Given the description of an element on the screen output the (x, y) to click on. 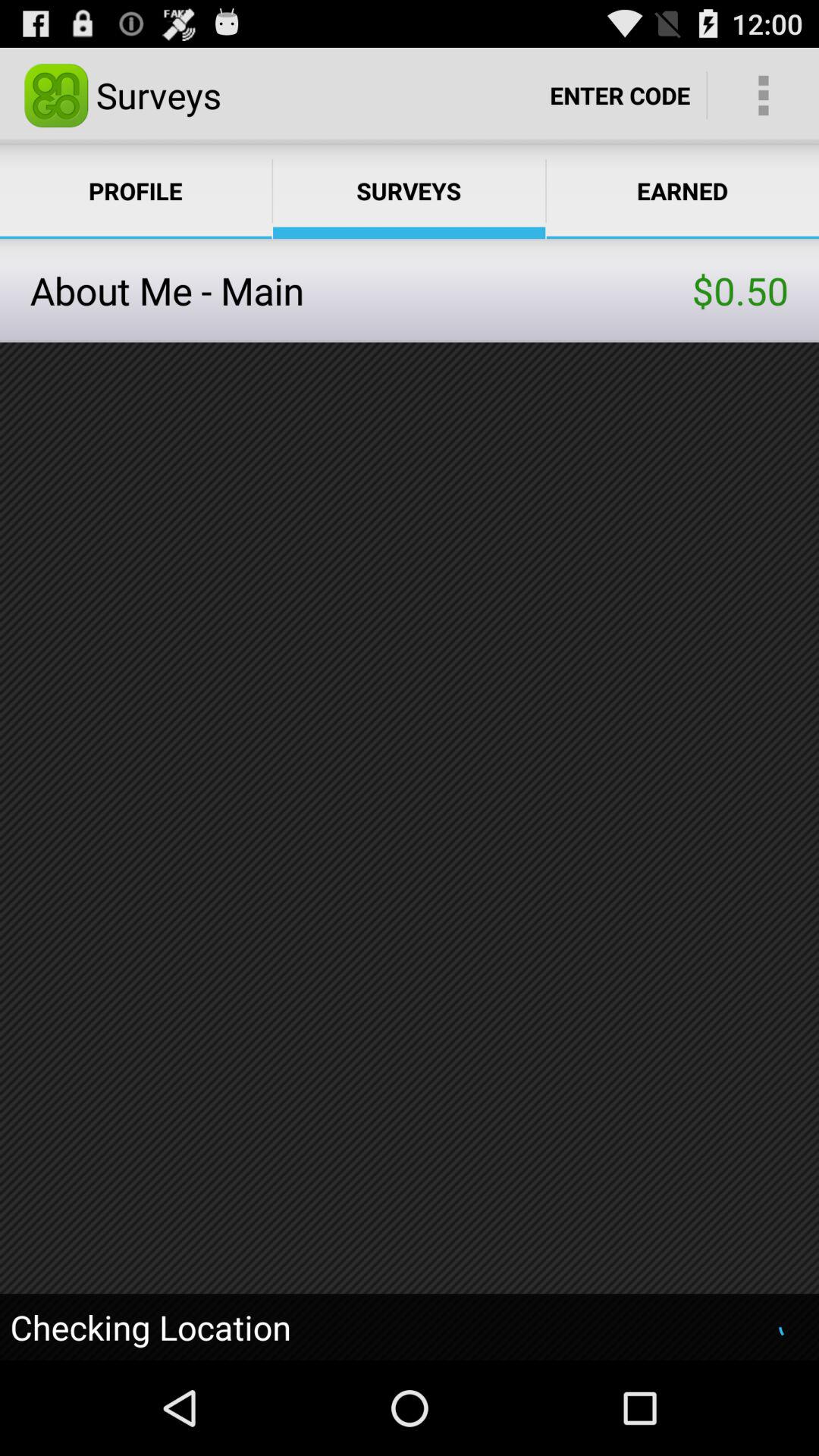
jump until $0.50 (740, 290)
